Given the description of an element on the screen output the (x, y) to click on. 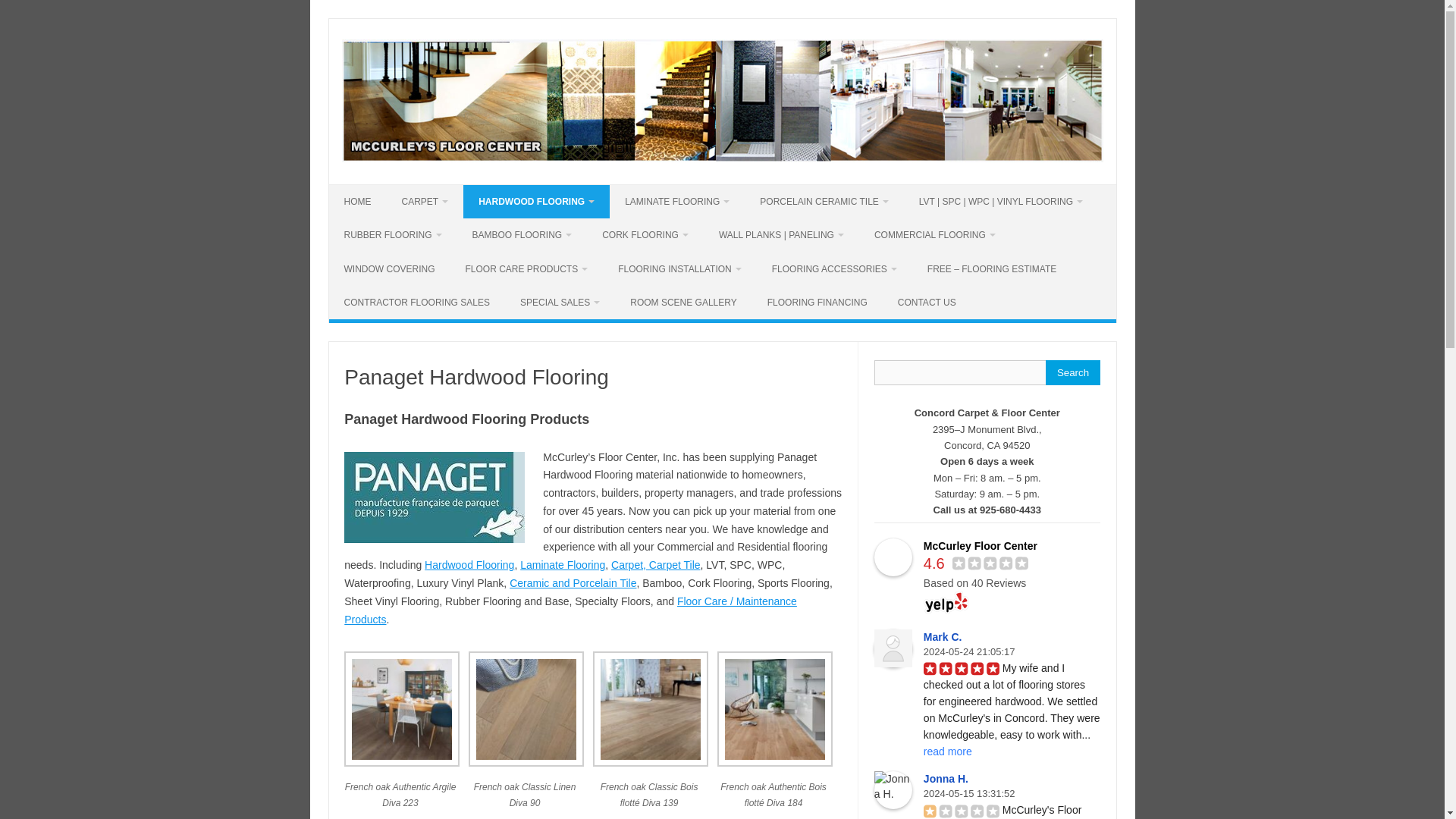
HARDWOOD FLOORING (536, 201)
Mark C. (893, 648)
CARPET (425, 201)
McCurley Floor Center (893, 557)
Search (1072, 372)
Yelp logo (946, 602)
McCurley's Concord Flooring Center Inc (721, 158)
Jonna H. (893, 790)
HOME (358, 201)
